Given the description of an element on the screen output the (x, y) to click on. 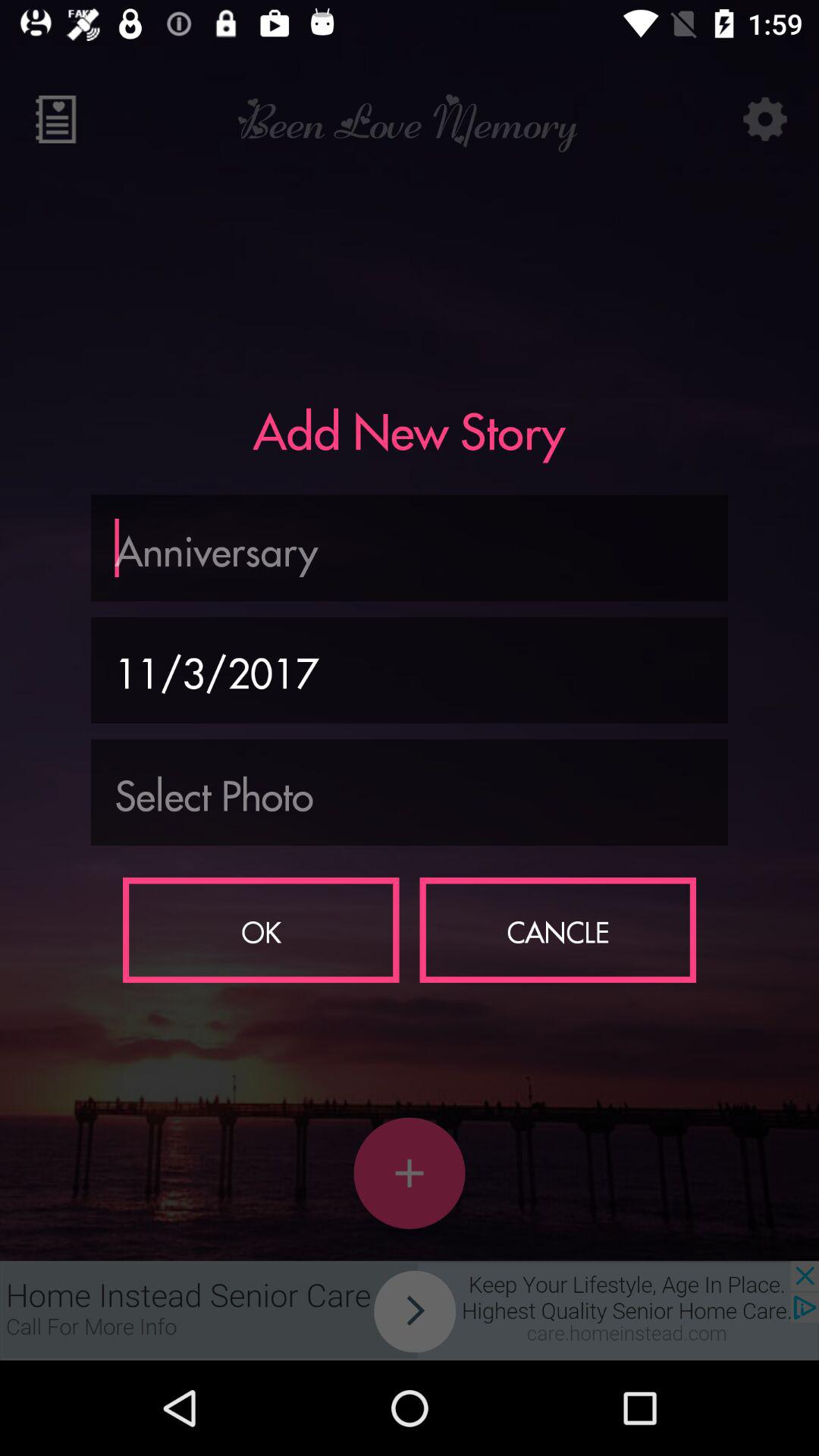
choose the 11/3/2017 (409, 670)
